Given the description of an element on the screen output the (x, y) to click on. 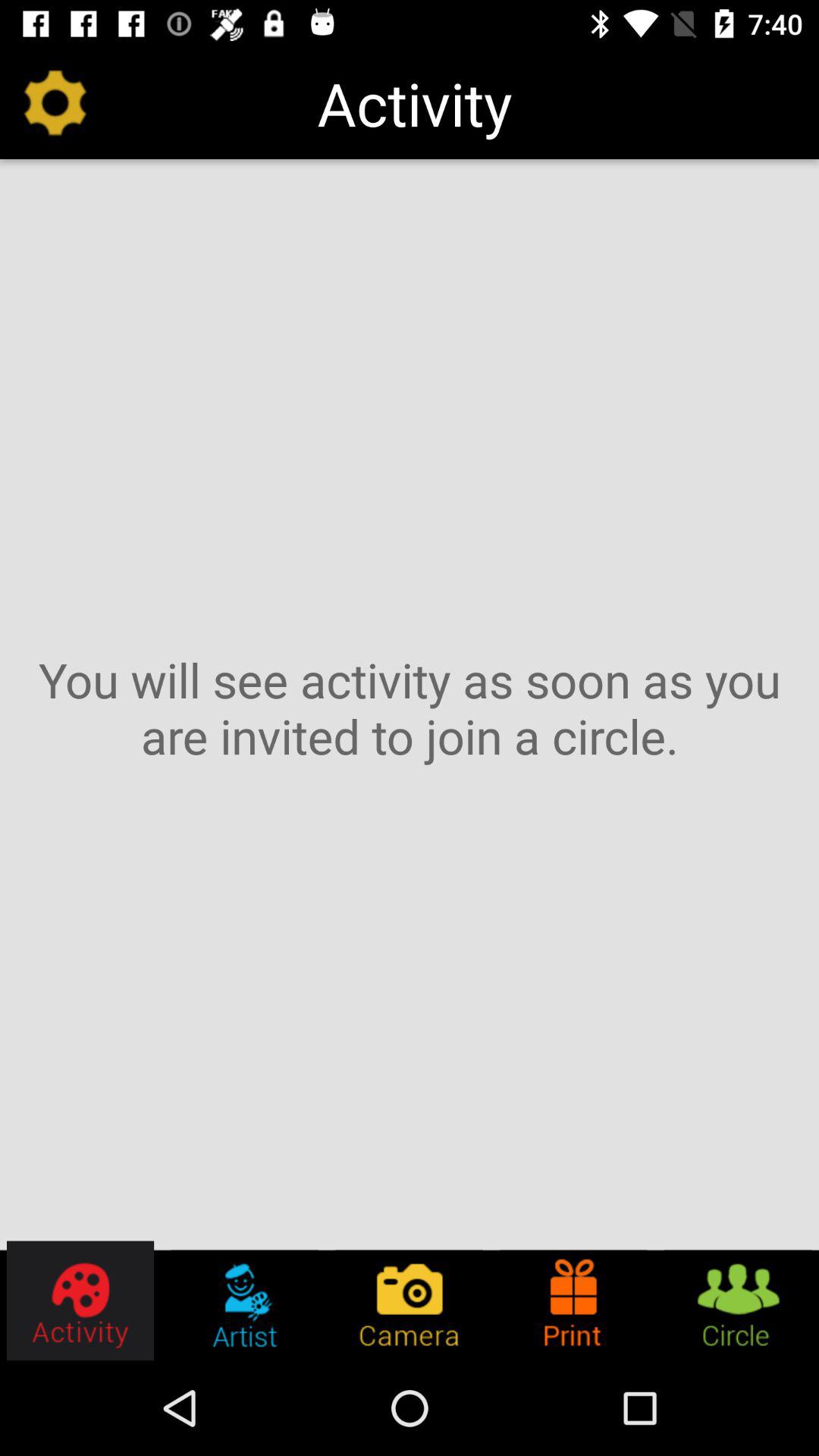
launch the item below you will see (737, 1300)
